Given the description of an element on the screen output the (x, y) to click on. 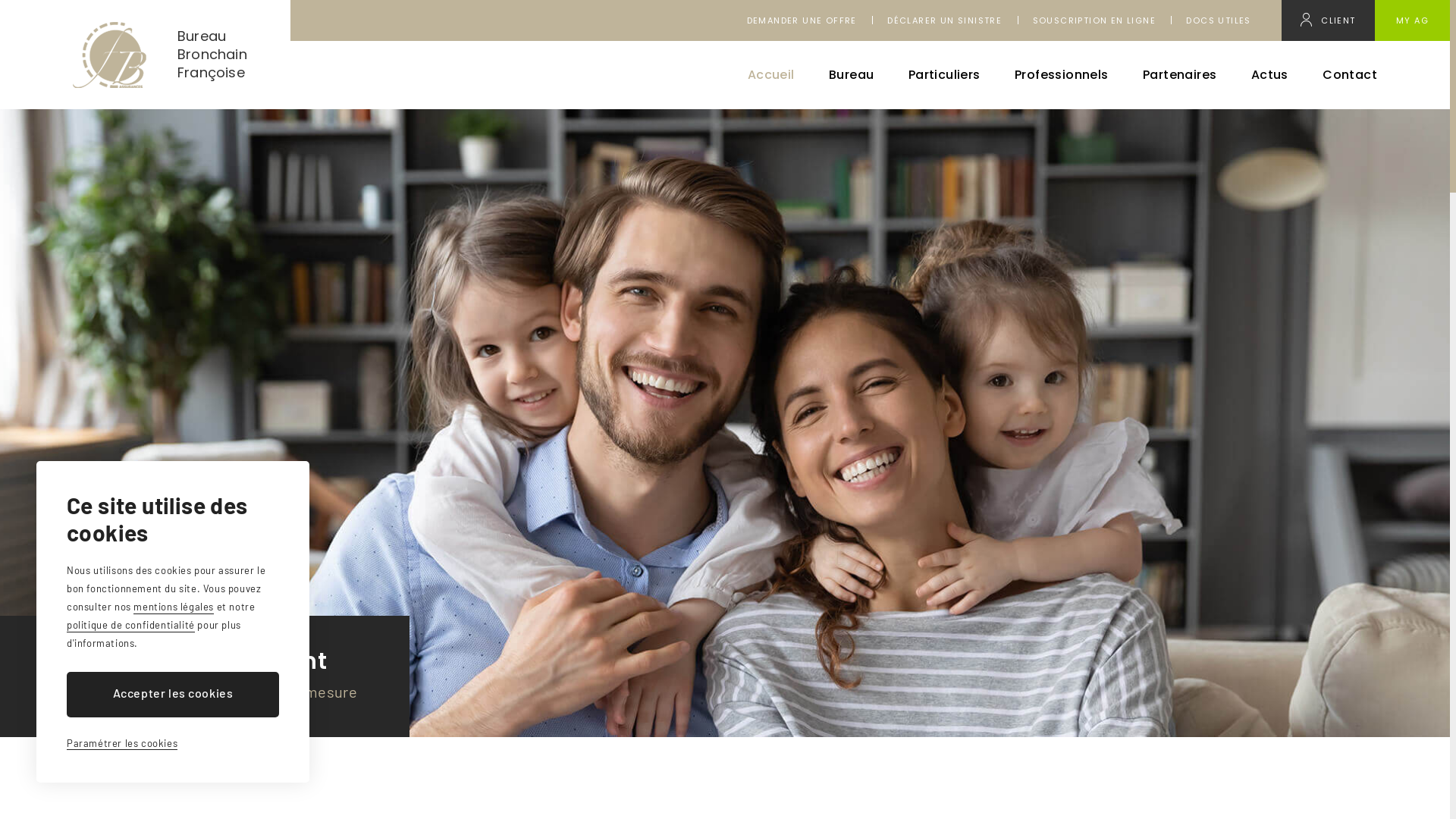
Professionnels Element type: text (1061, 74)
Contact Element type: text (1349, 74)
Actus Element type: text (1269, 74)
DOCS UTILES Element type: text (1218, 20)
DEMANDER UNE OFFRE Element type: text (801, 20)
Bureau Element type: text (850, 74)
SOUSCRIPTION EN LIGNE Element type: text (1093, 20)
Partenaires Element type: text (1179, 74)
MY AG Element type: text (1411, 20)
Accueil Element type: text (770, 74)
Particuliers Element type: text (944, 74)
CLIENT Element type: text (1327, 20)
